Given the description of an element on the screen output the (x, y) to click on. 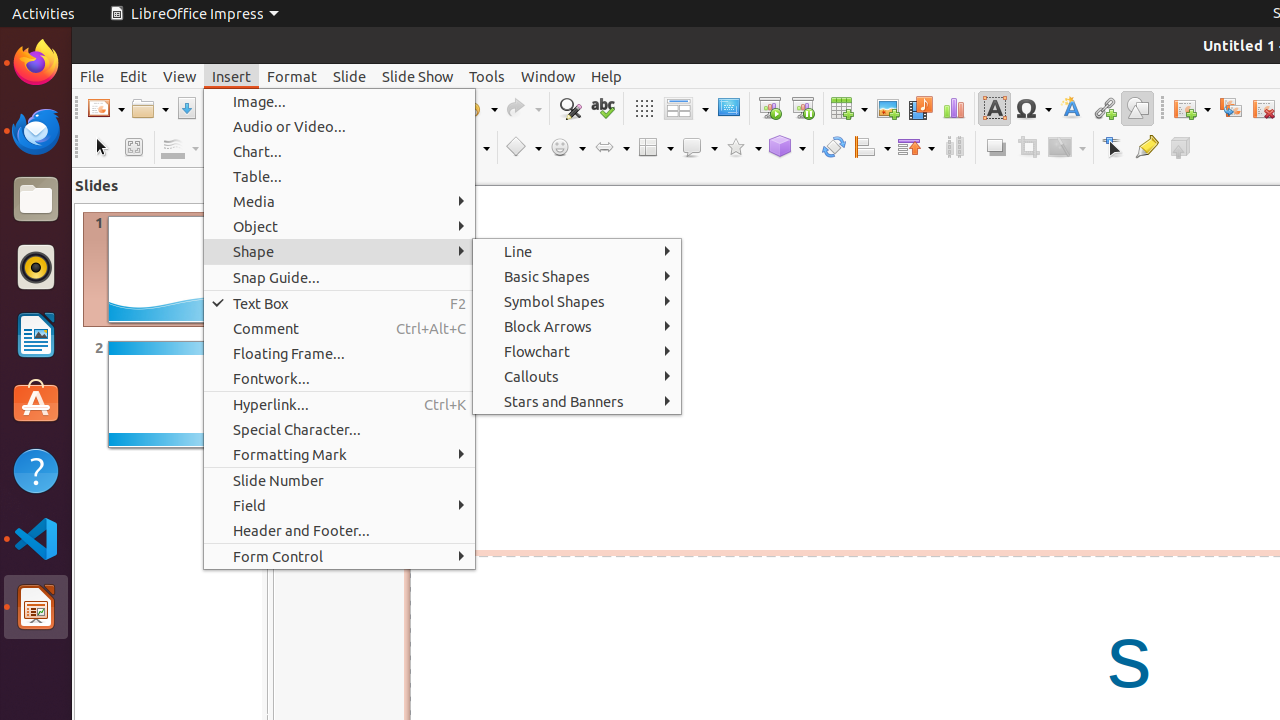
Header and Footer... Element type: menu-item (339, 530)
Field Element type: menu (339, 505)
Format Element type: menu (292, 76)
